Given the description of an element on the screen output the (x, y) to click on. 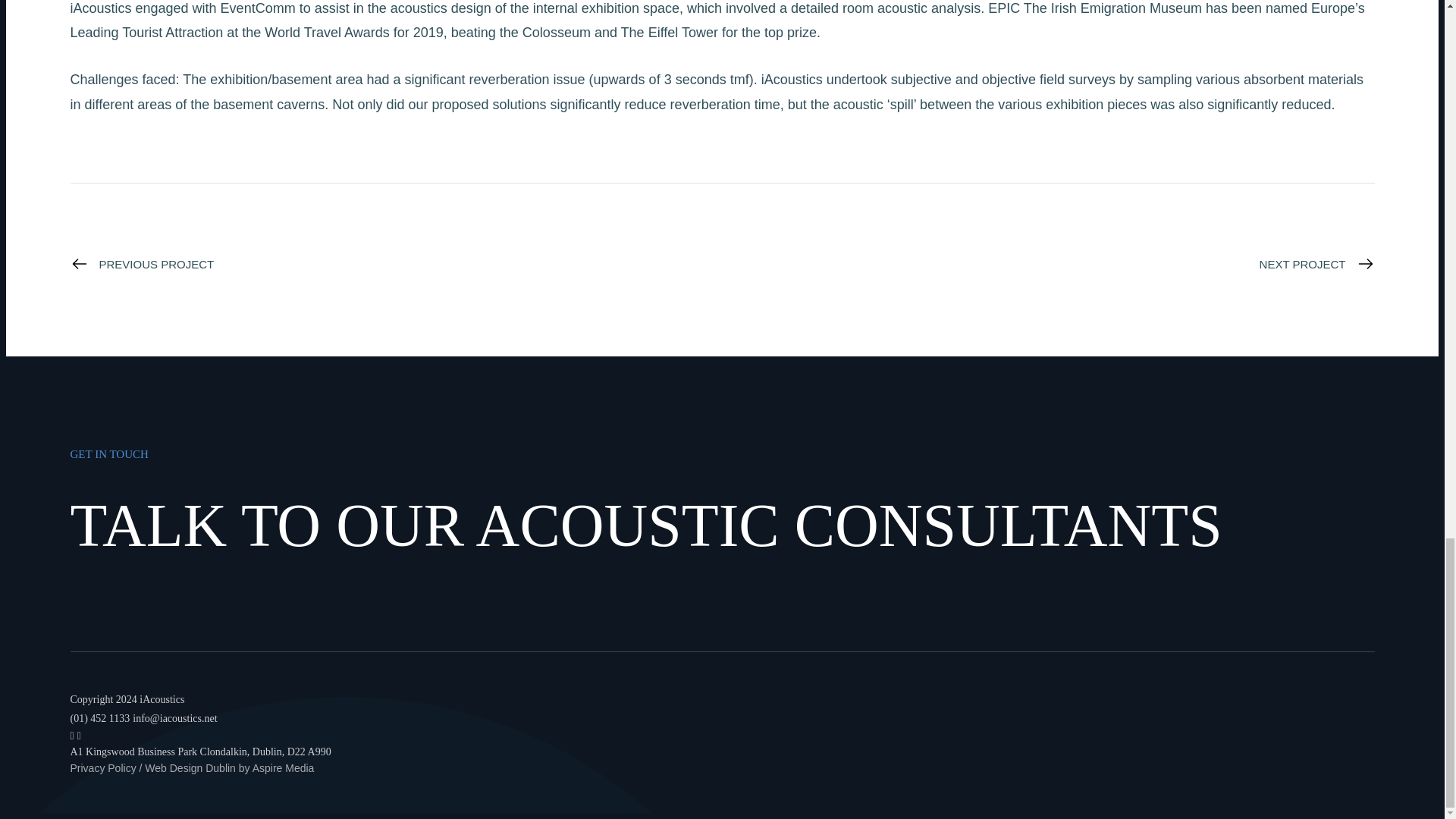
PREVIOUS PROJECT (141, 263)
Web Design Dublin by Aspire Media (229, 767)
NEXT PROJECT (1316, 263)
